Given the description of an element on the screen output the (x, y) to click on. 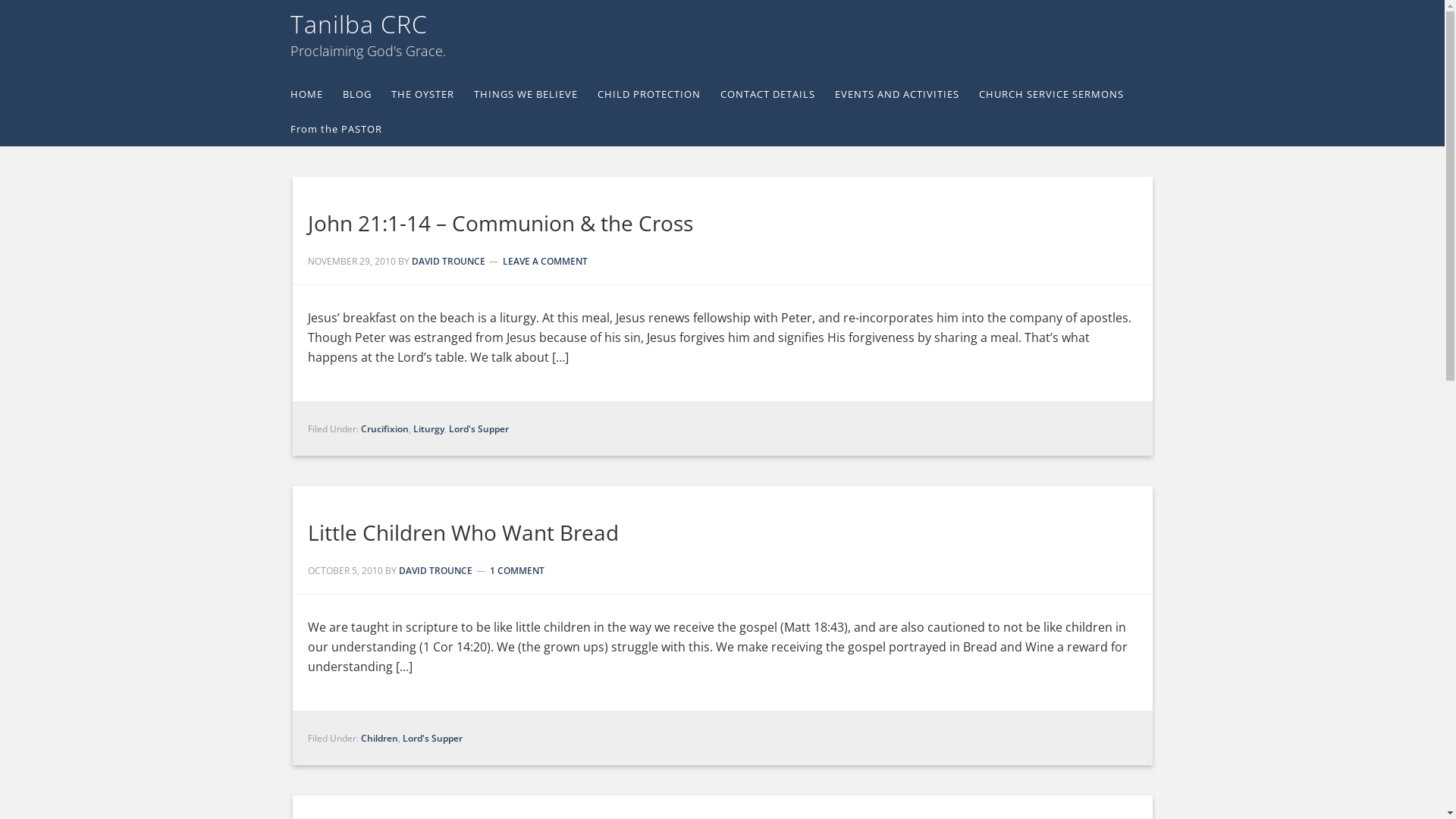
DAVID TROUNCE Element type: text (435, 570)
EVENTS AND ACTIVITIES Element type: text (906, 94)
THINGS WE BELIEVE Element type: text (534, 94)
CONTACT DETAILS Element type: text (777, 94)
CHURCH SERVICE SERMONS Element type: text (1060, 94)
LEAVE A COMMENT Element type: text (544, 260)
Lord's Supper Element type: text (478, 427)
Children Element type: text (379, 737)
Crucifixion Element type: text (384, 427)
Liturgy Element type: text (427, 427)
Little Children Who Want Bread Element type: text (462, 531)
Tanilba CRC Element type: text (357, 23)
From the PASTOR Element type: text (345, 129)
1 COMMENT Element type: text (516, 570)
BLOG Element type: text (366, 94)
CHILD PROTECTION Element type: text (658, 94)
THE OYSTER Element type: text (432, 94)
Lord's Supper Element type: text (431, 737)
HOME Element type: text (315, 94)
DAVID TROUNCE Element type: text (447, 260)
